Given the description of an element on the screen output the (x, y) to click on. 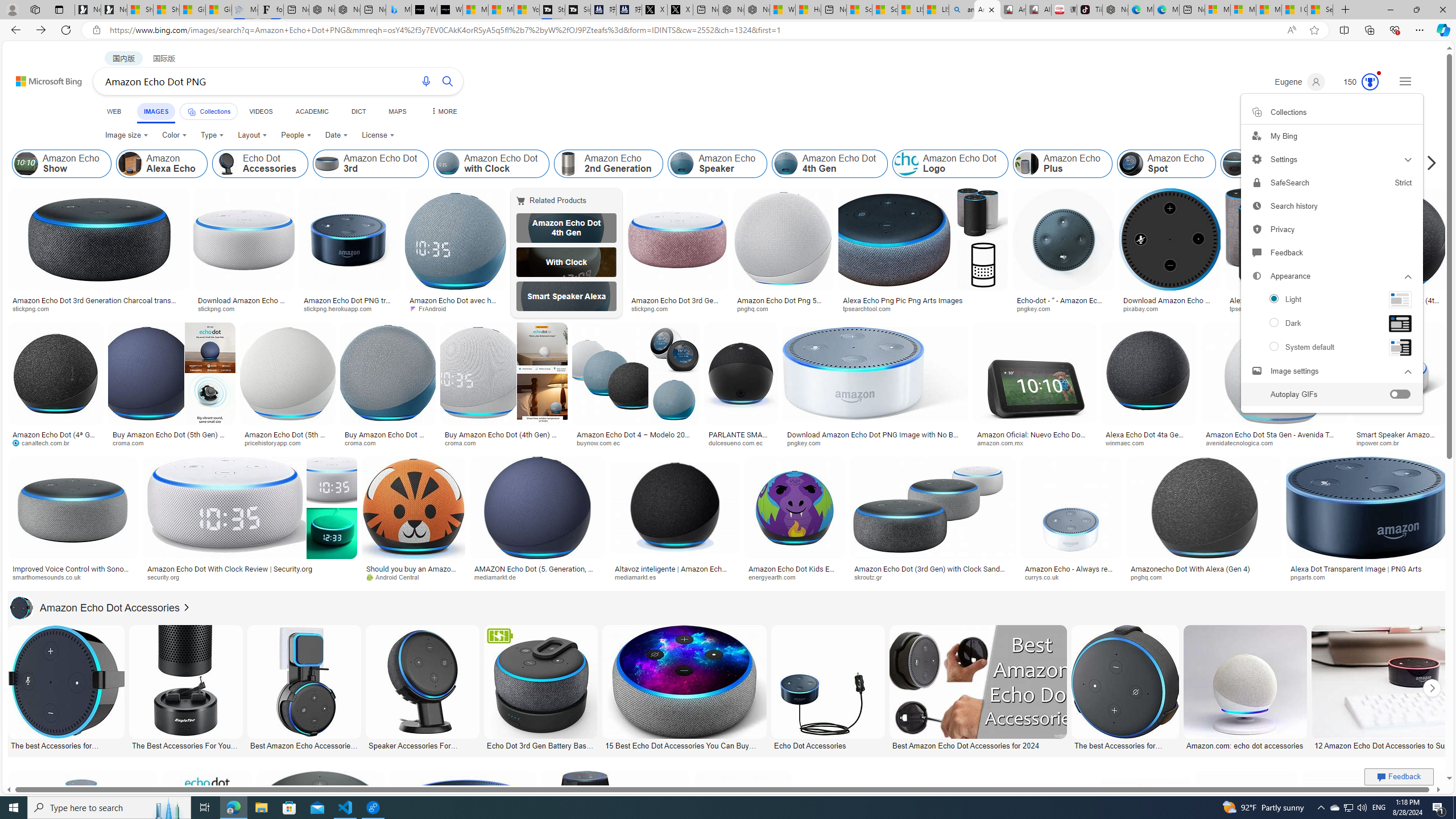
energyearth.com (775, 576)
avenidatecnologica.com (1273, 442)
Type (212, 135)
Amazon.com: echo dot accessories (1245, 744)
Image settings (1256, 370)
Amazon Echo Dot 4th Gen (565, 227)
System default (1331, 347)
amazon.com.mx (1034, 442)
Microsoft Bing Travel - Shangri-La Hotel Bangkok (398, 9)
Autoplay GIFs (1332, 395)
MAPS (397, 111)
stickpng.herokuapp.com (350, 308)
